Given the description of an element on the screen output the (x, y) to click on. 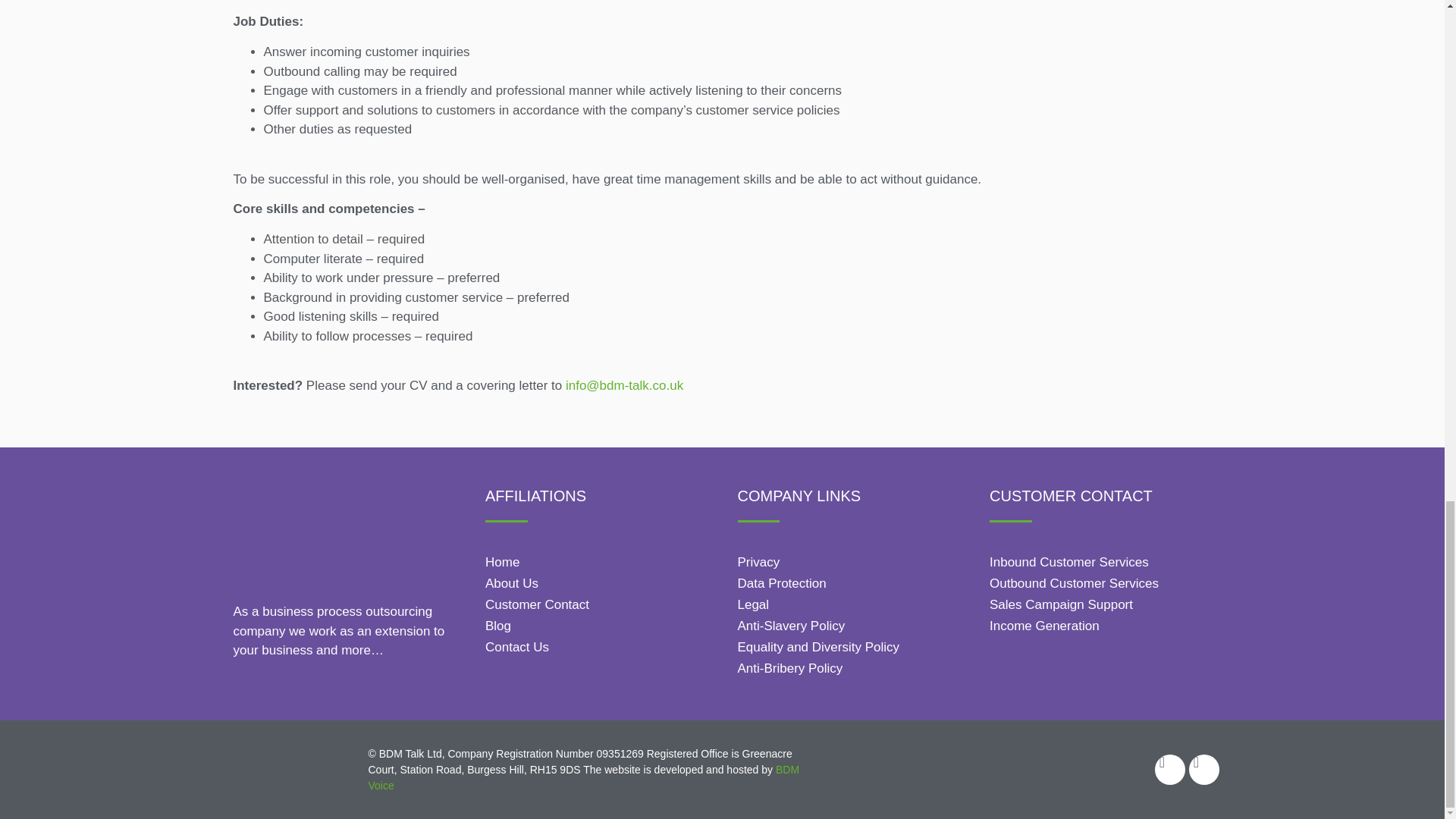
BDM Voice (583, 777)
